Given the description of an element on the screen output the (x, y) to click on. 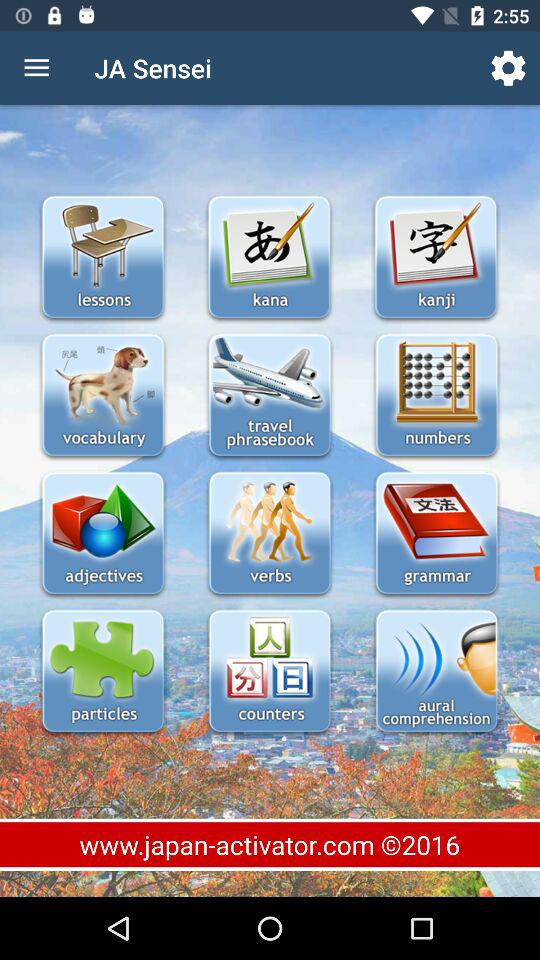
select travel phrasebook option (269, 396)
